Given the description of an element on the screen output the (x, y) to click on. 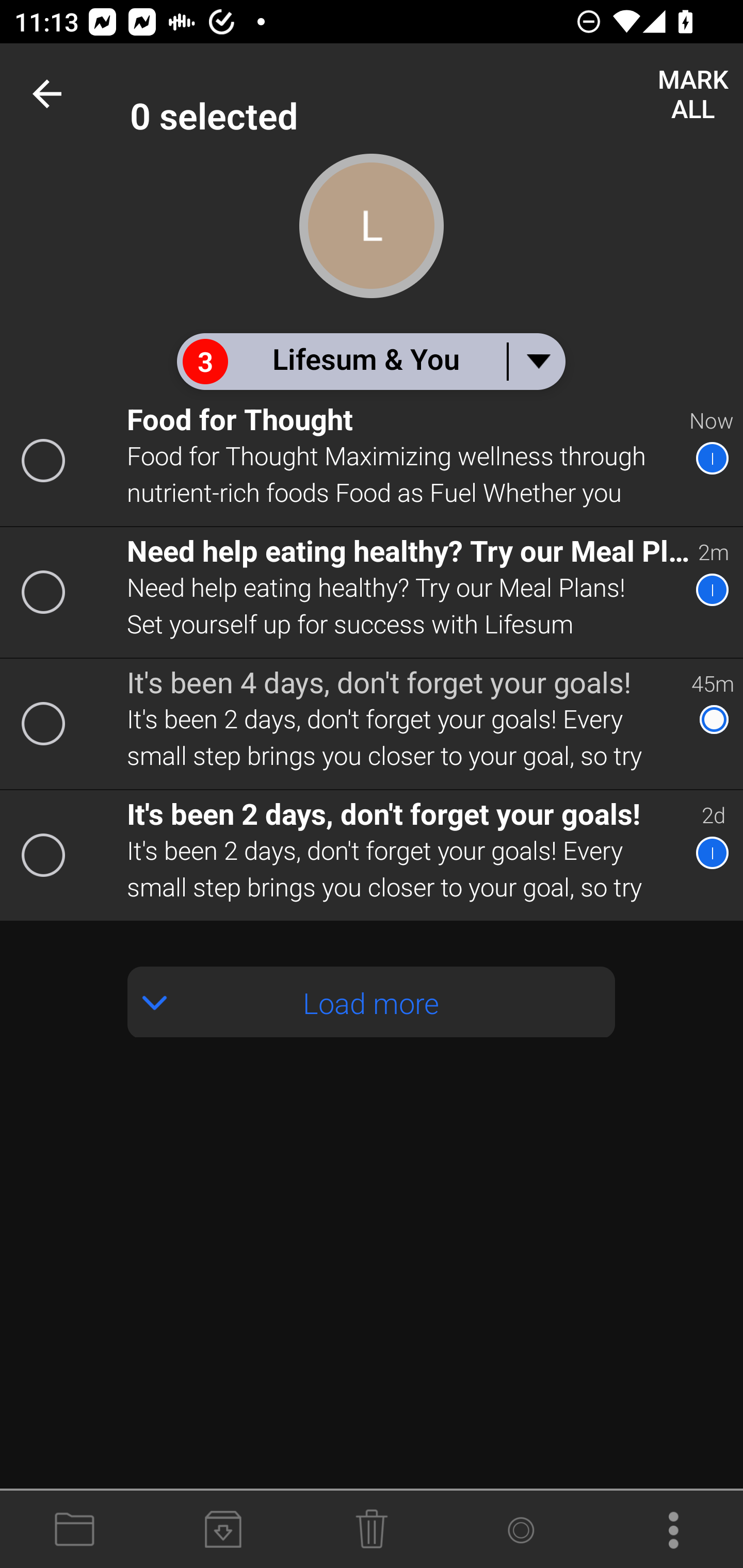
Navigate up (50, 93)
Lifesum lifesum@communication.lifesum.com (436, 93)
MARK
ALL (692, 93)
3 Lifesum & You (370, 361)
Load more (371, 1001)
Move (74, 1529)
Archive (222, 1529)
Delete (371, 1529)
Mark as Read (520, 1529)
More Options (668, 1529)
